Given the description of an element on the screen output the (x, y) to click on. 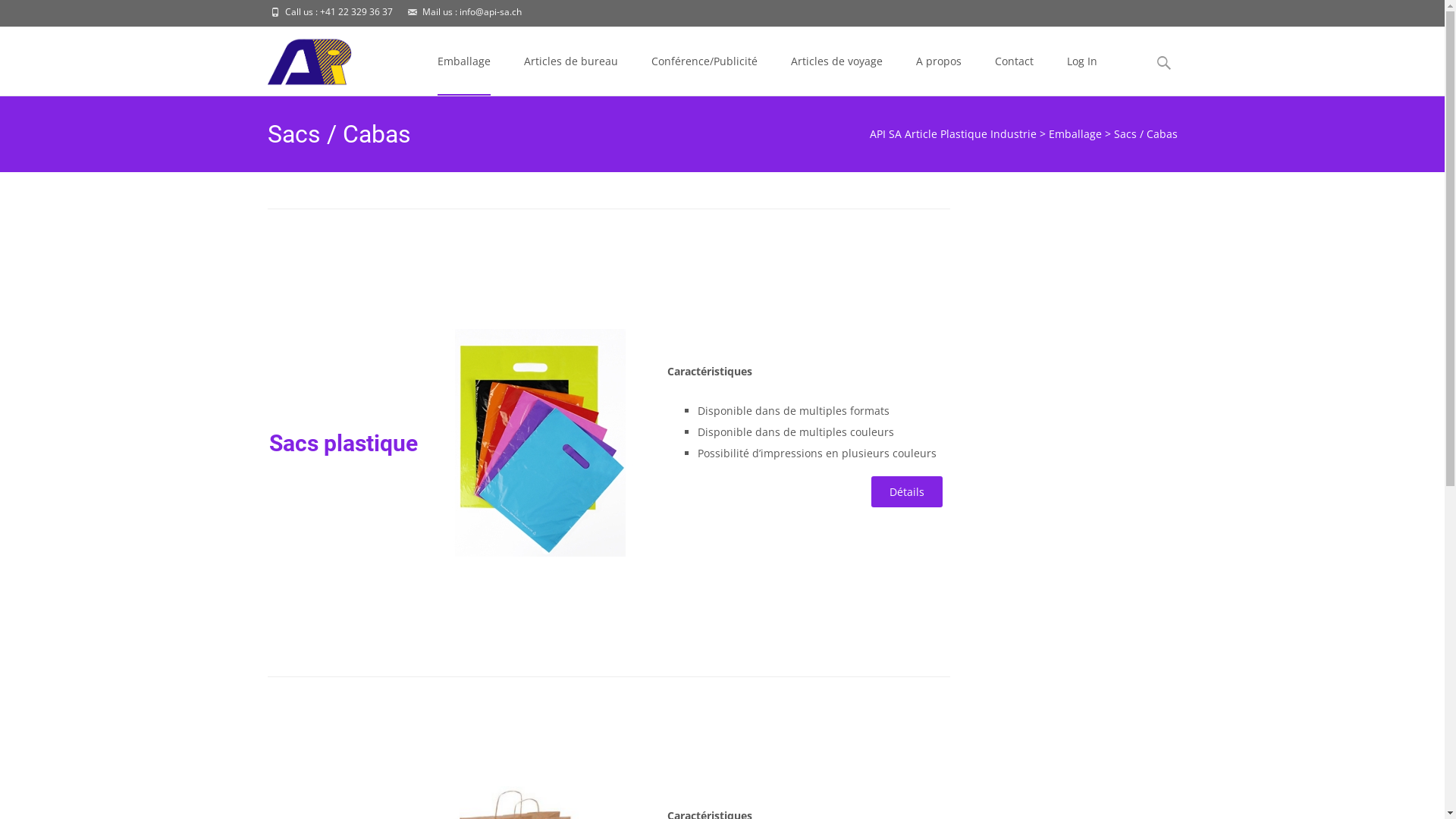
Sacs plastique Element type: text (343, 442)
Skip to content Element type: text (459, 36)
Articles de voyage Element type: text (835, 61)
Search for: Element type: hover (1163, 63)
API SA Article Plastique Industrie Element type: text (952, 133)
Emballage Element type: text (1074, 133)
Emballage Element type: text (462, 61)
Search Element type: text (18, 15)
Articles de bureau Element type: text (570, 61)
Log In Element type: text (1081, 61)
A propos Element type: text (938, 61)
Contact Element type: text (1013, 61)
API SA Article Plastique Industrie Element type: hover (298, 57)
